Given the description of an element on the screen output the (x, y) to click on. 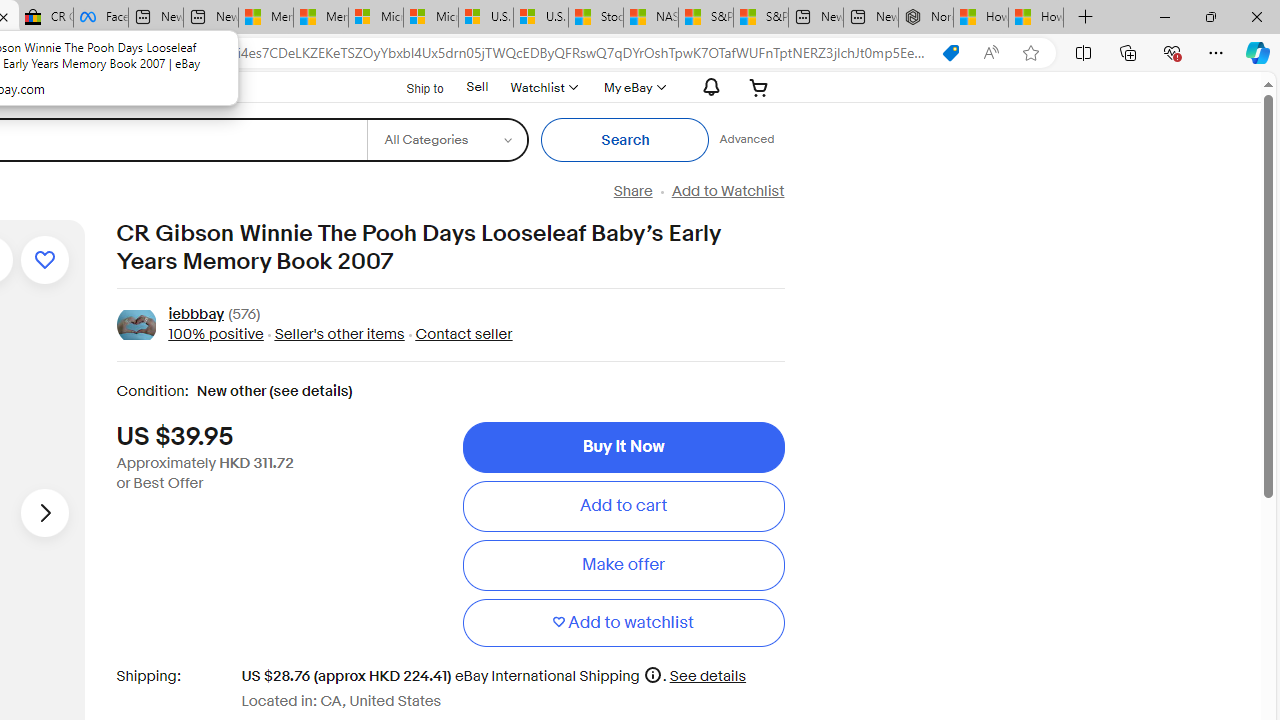
Watchlist (543, 87)
iebbbay (196, 315)
AutomationID: gh-eb-Alerts (708, 87)
Ship to (412, 88)
More information (652, 673)
Expand Cart (759, 87)
(576) (244, 315)
My eBayExpand My eBay (632, 87)
Copilot (Ctrl+Shift+.) (1258, 52)
Notifications (706, 87)
Advanced Search (746, 139)
Share (632, 191)
You have the best price! (950, 53)
